Given the description of an element on the screen output the (x, y) to click on. 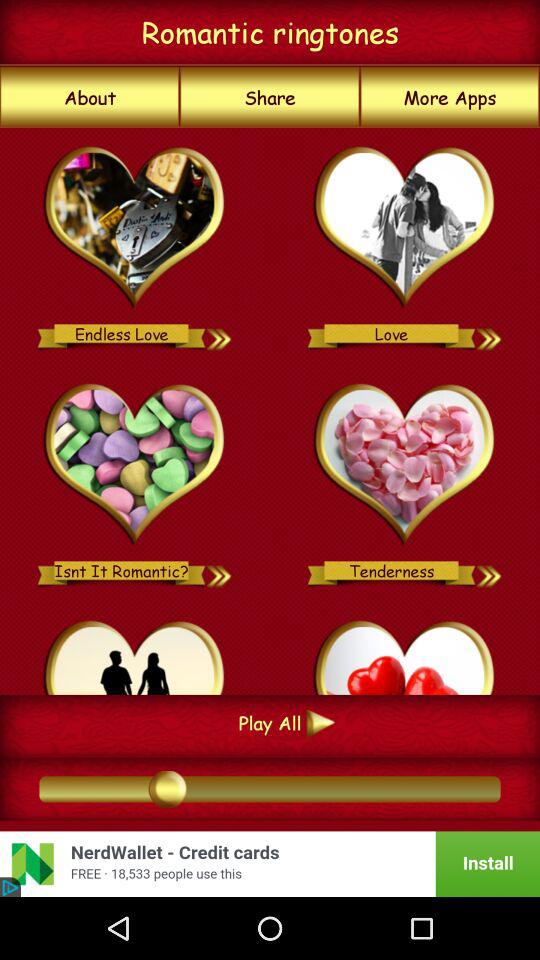
ringtone selection (404, 228)
